Given the description of an element on the screen output the (x, y) to click on. 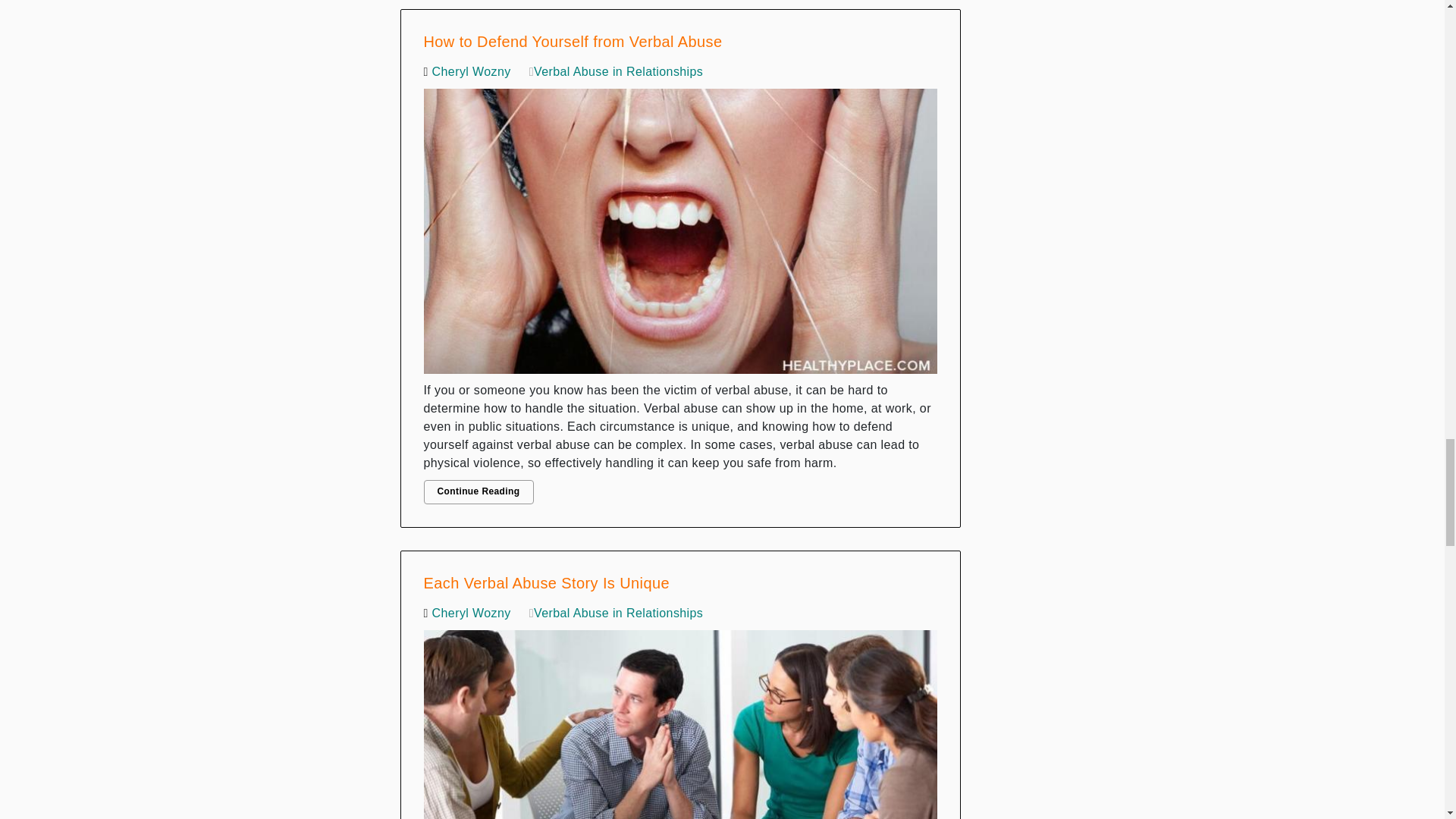
Each Verbal Abuse Story Is Unique (680, 720)
